Given the description of an element on the screen output the (x, y) to click on. 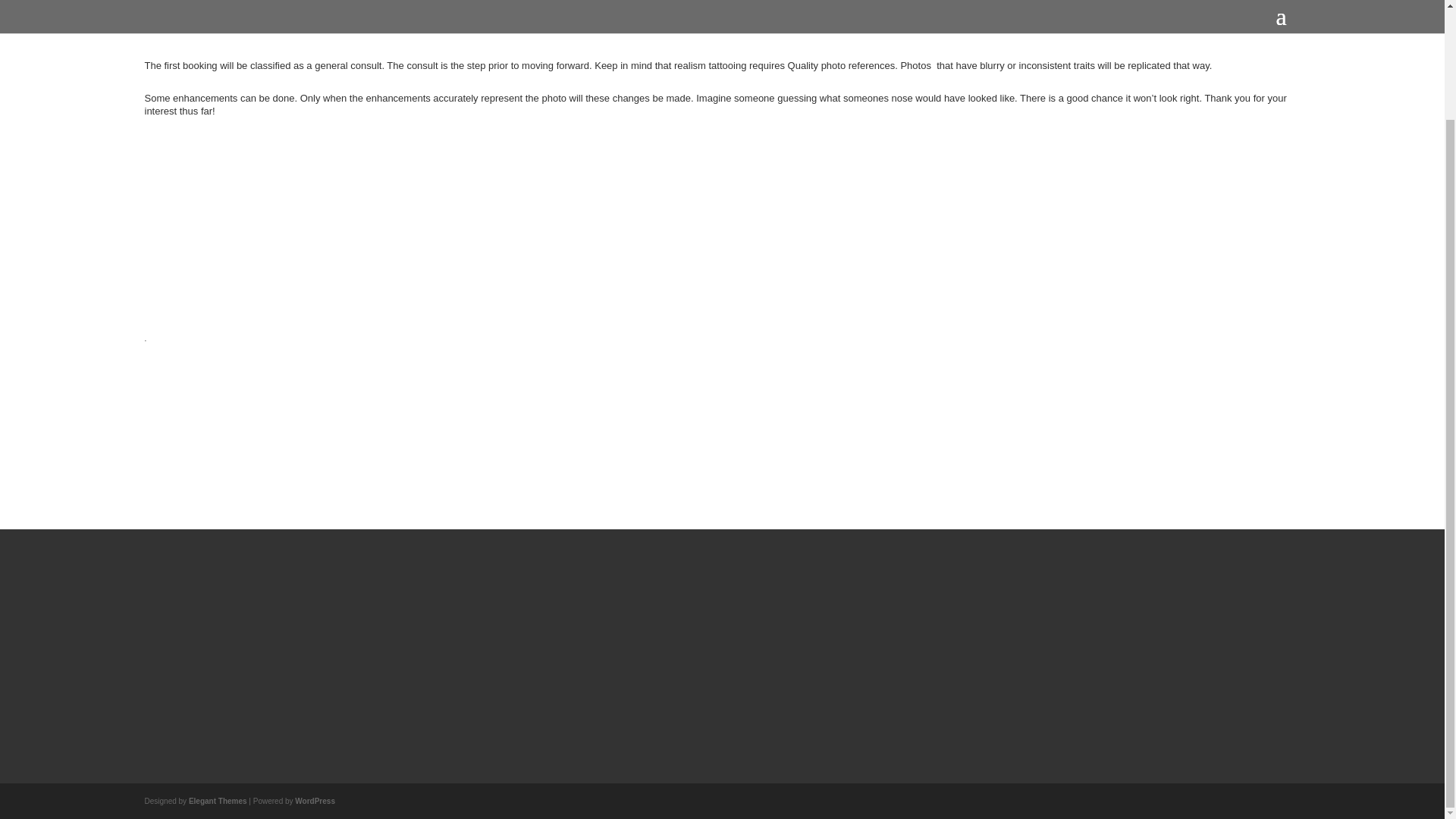
WordPress (314, 800)
Premium WordPress Themes (218, 800)
Elegant Themes (218, 800)
